Given the description of an element on the screen output the (x, y) to click on. 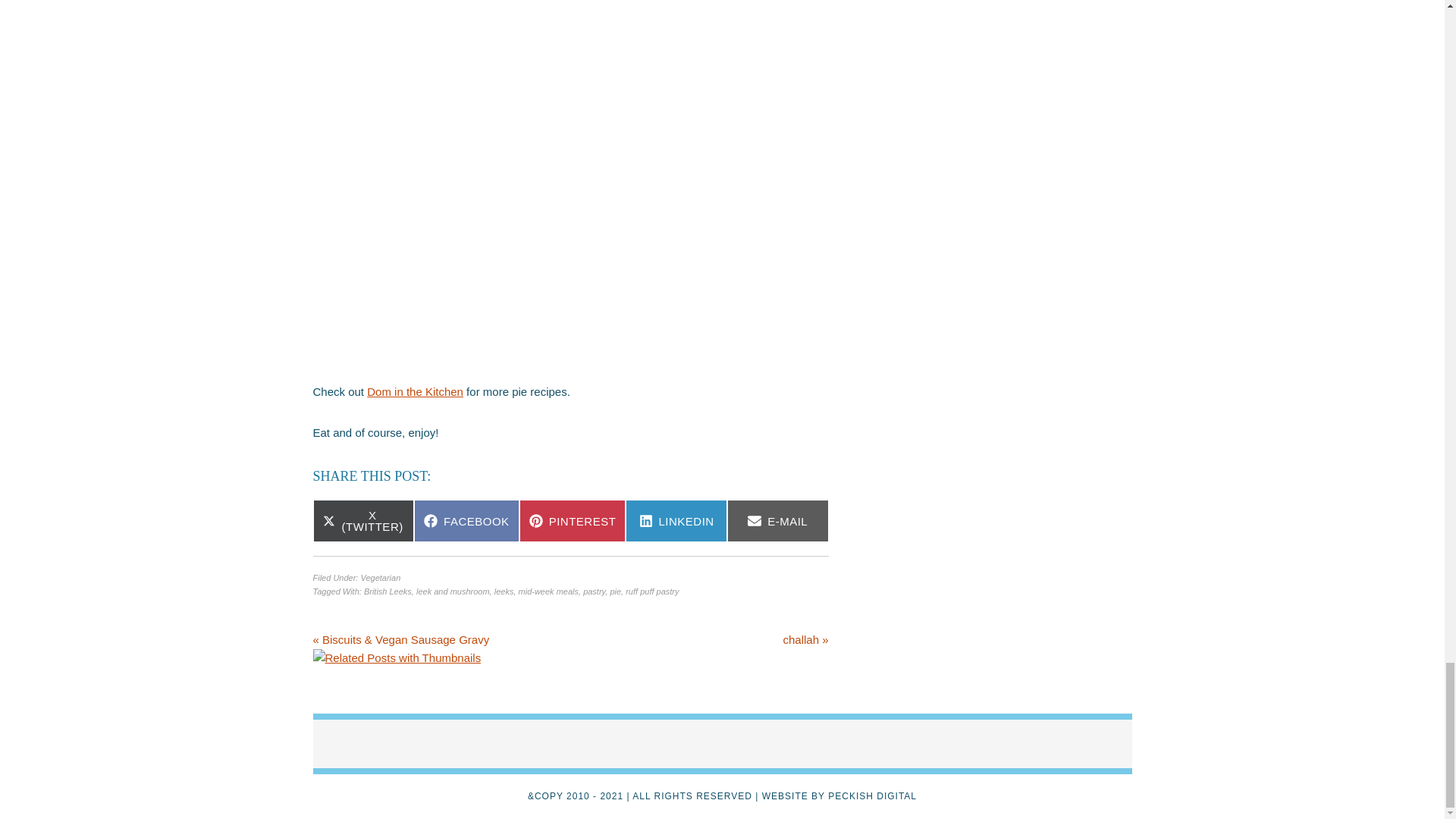
leeks (504, 591)
E-MAIL (777, 520)
leek and mushroom (452, 591)
pastry (594, 591)
FACEBOOK (466, 520)
PINTEREST (572, 520)
ruff puff pastry (652, 591)
mid-week meals (548, 591)
pie (615, 591)
British Leeks (388, 591)
Vegetarian (379, 577)
Dom in the Kitchen (414, 391)
LINKEDIN (676, 520)
